Given the description of an element on the screen output the (x, y) to click on. 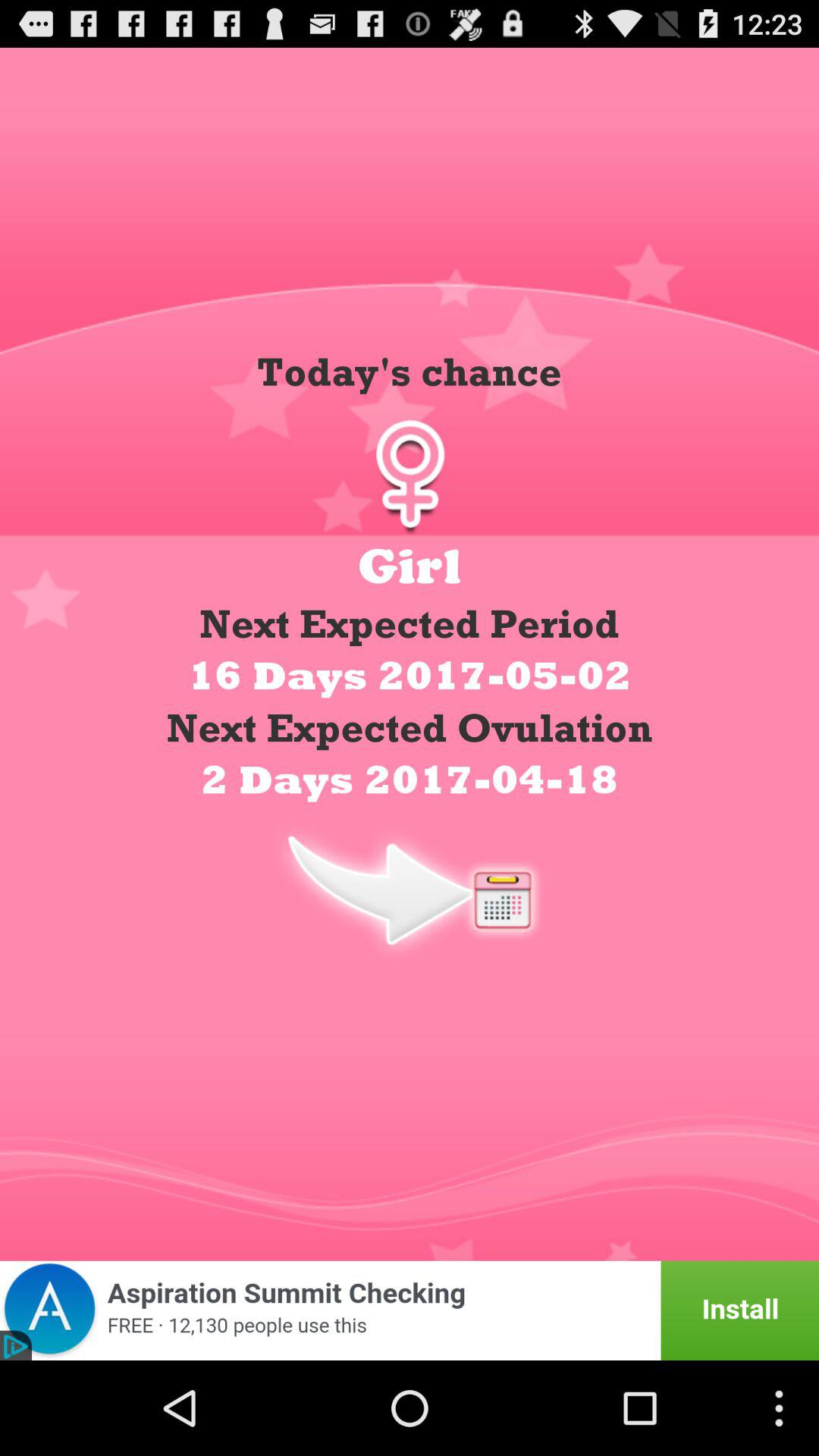
go to calculater (409, 889)
